Given the description of an element on the screen output the (x, y) to click on. 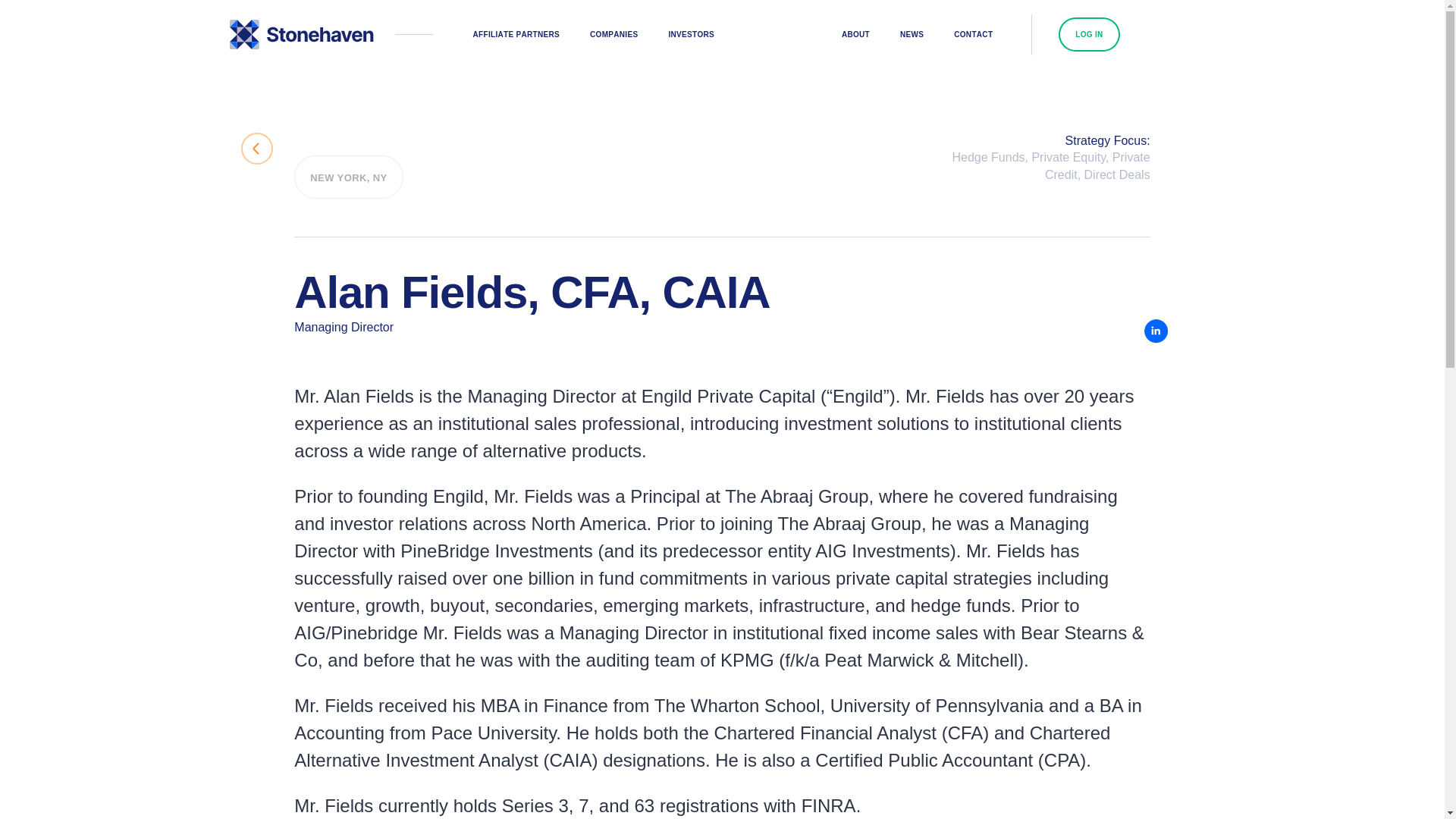
LOG IN (1088, 33)
NEWS (912, 33)
NEW YORK, NY (348, 177)
INVESTORS (690, 33)
ABOUT (856, 33)
FINRA (829, 805)
CONTACT (973, 33)
AFFILIATE PARTNERS (516, 33)
COMPANIES (613, 33)
